Given the description of an element on the screen output the (x, y) to click on. 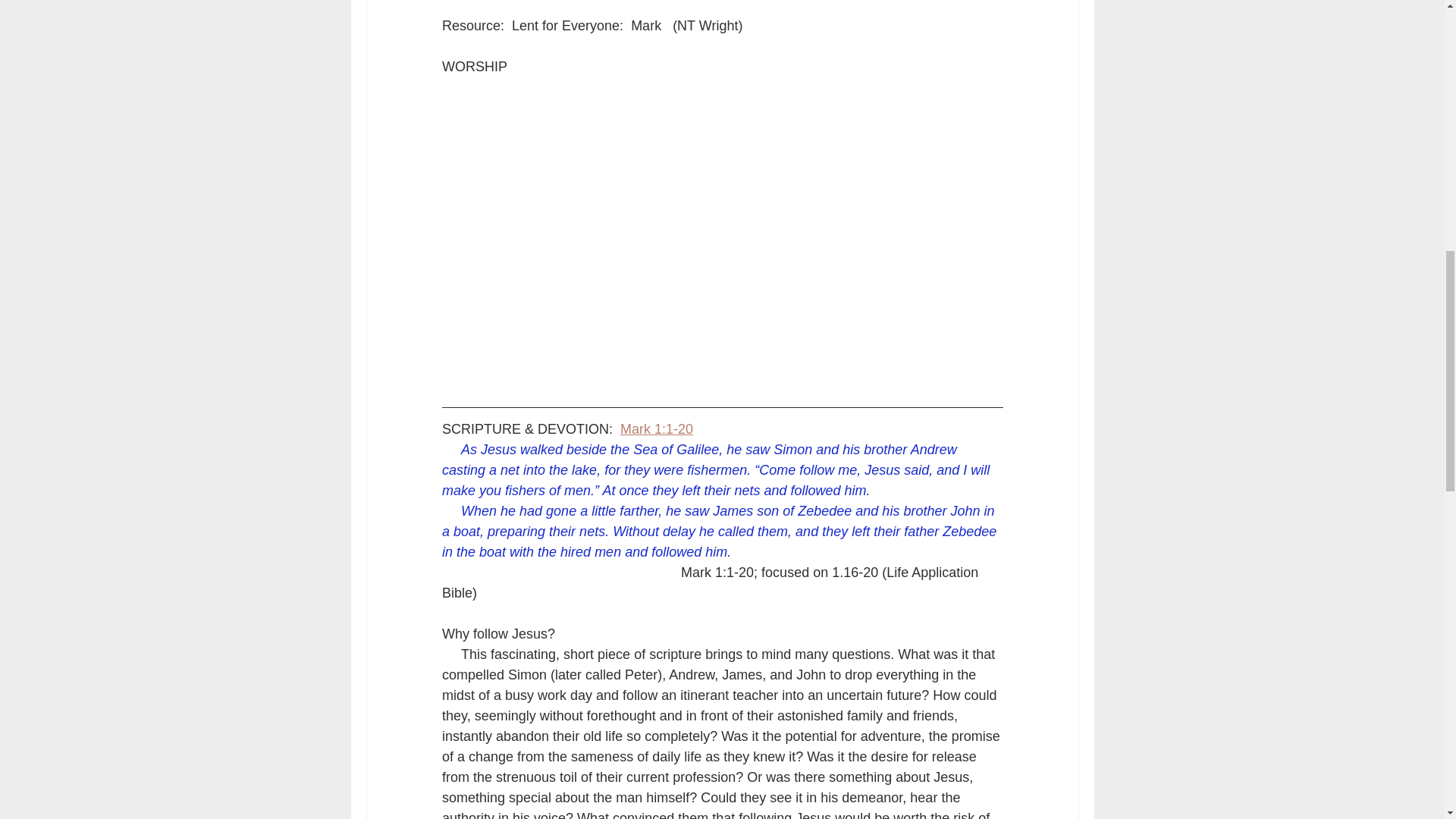
Mark 1:1-20 (656, 428)
